Given the description of an element on the screen output the (x, y) to click on. 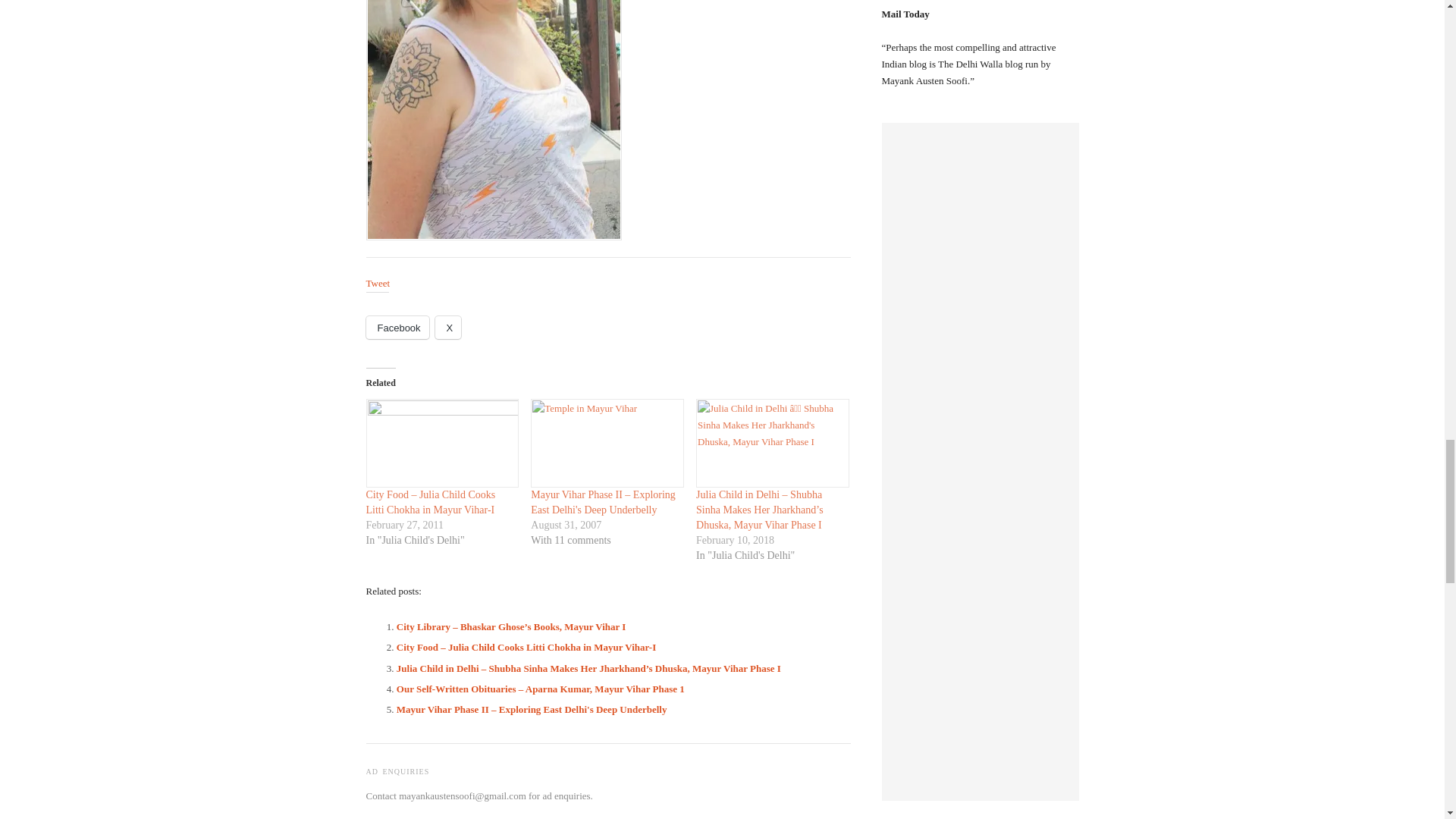
Click to share on X (448, 327)
Click to share on Facebook (396, 327)
Tweet (377, 283)
Facebook (396, 327)
